Given the description of an element on the screen output the (x, y) to click on. 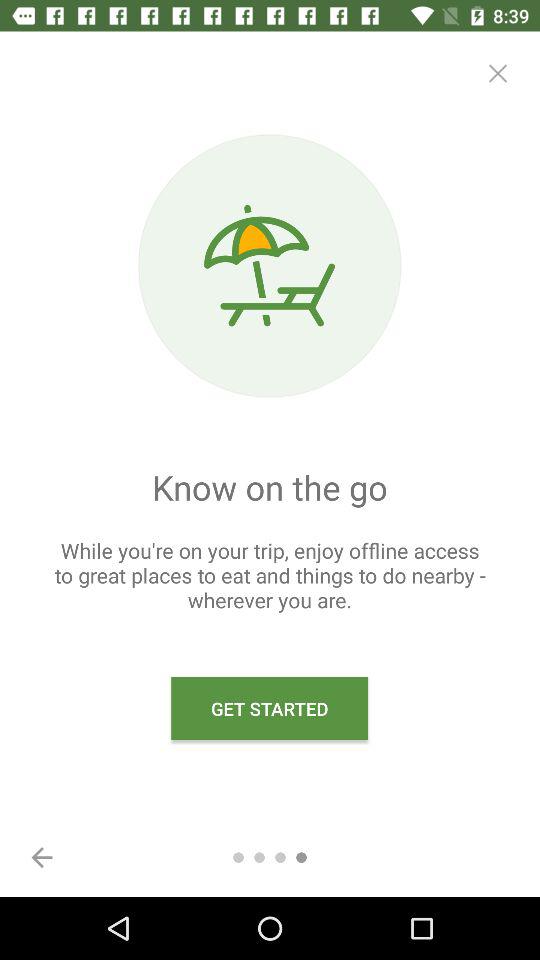
turn on item above the while you re icon (497, 73)
